Given the description of an element on the screen output the (x, y) to click on. 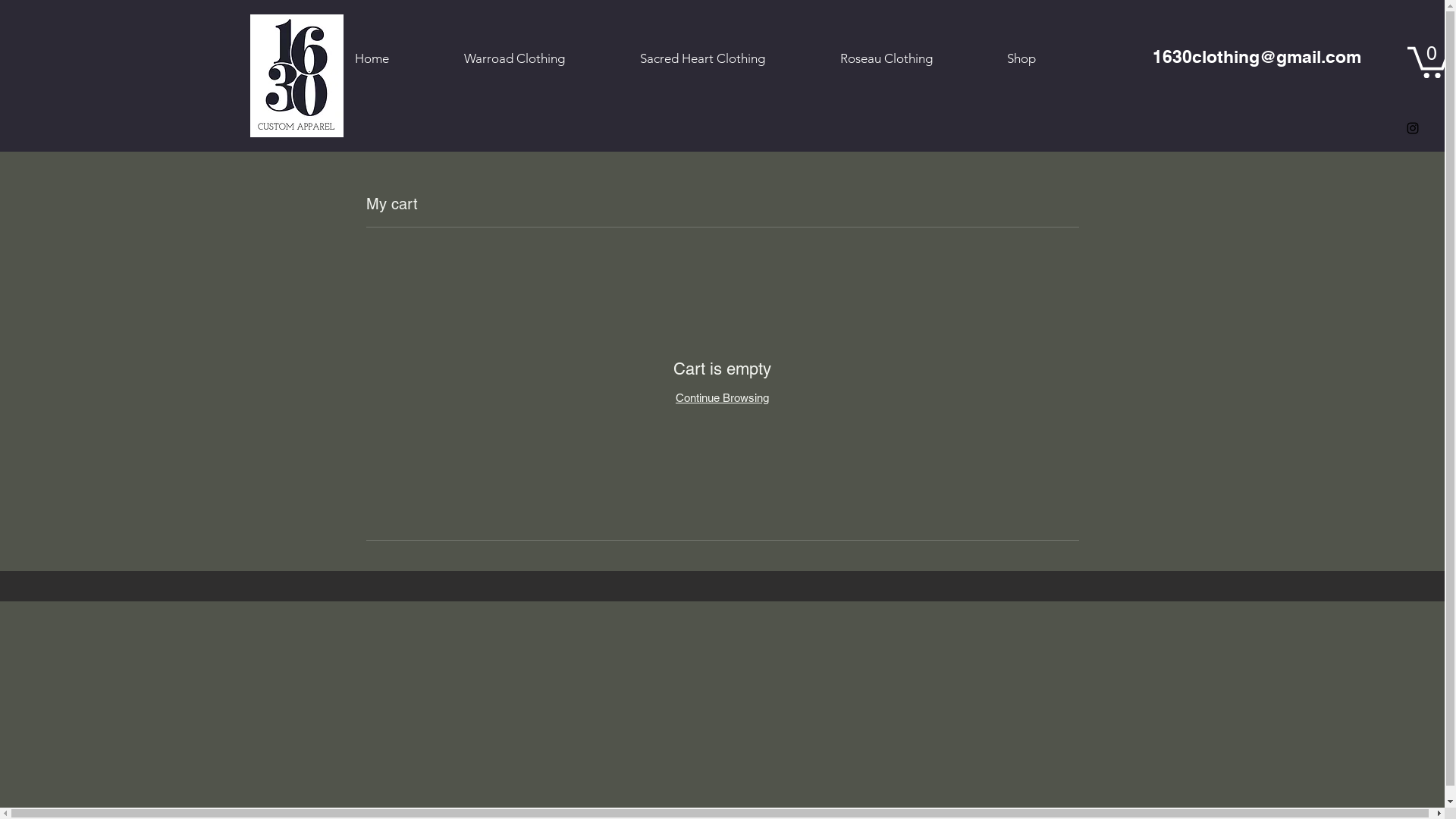
Sacred Heart Clothing Element type: text (727, 58)
Wix Chat Element type: hover (1304, 774)
Continue Browsing Element type: text (721, 397)
Home Element type: text (396, 58)
Visitor Analytics Element type: hover (1442, 4)
1630clothing@gmail.com Element type: text (1256, 56)
Roseau Clothing Element type: text (911, 58)
Warroad Clothing Element type: text (539, 58)
Shop Element type: text (1046, 58)
0 Element type: text (1428, 60)
